Given the description of an element on the screen output the (x, y) to click on. 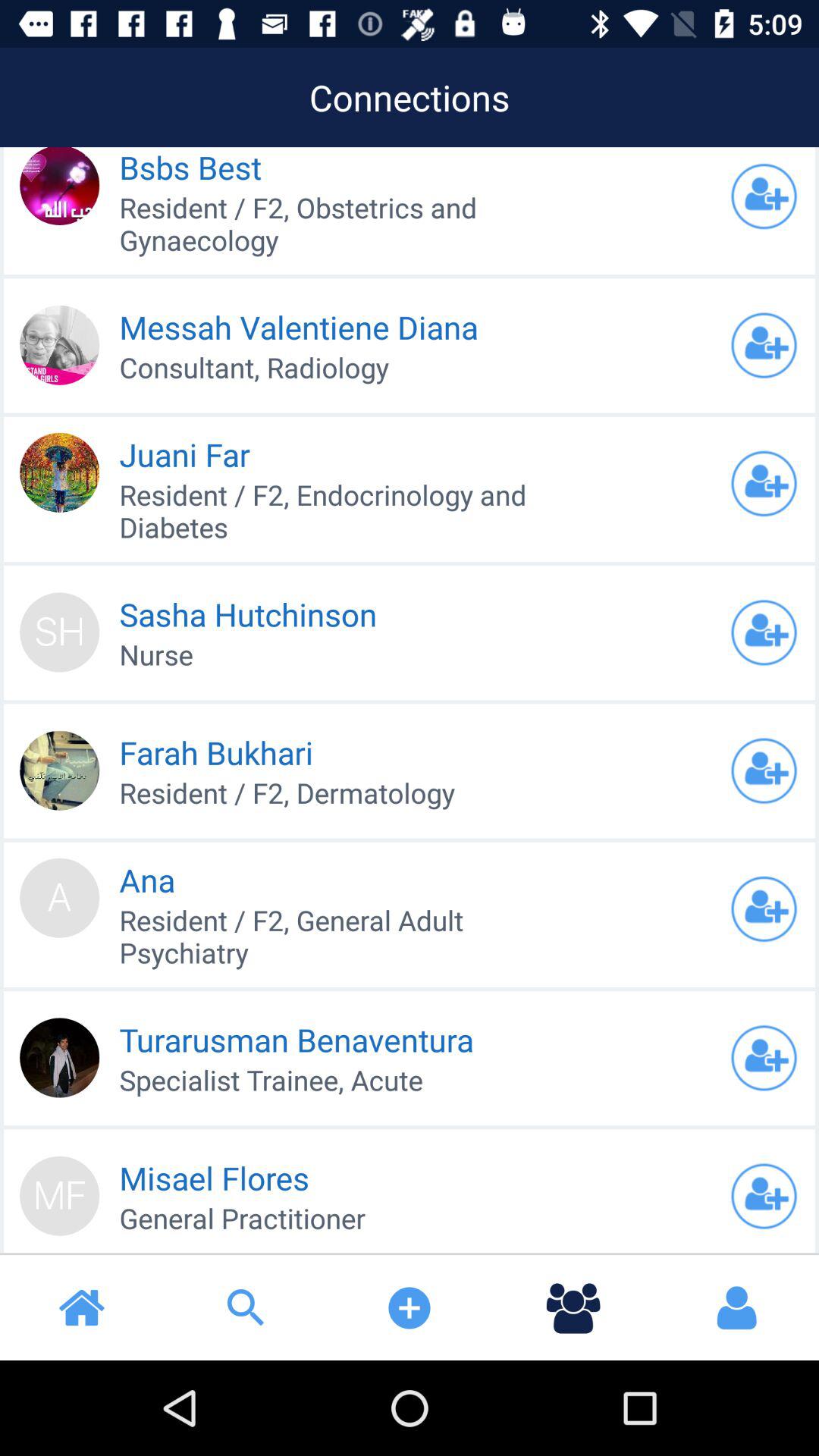
add friend (764, 196)
